Given the description of an element on the screen output the (x, y) to click on. 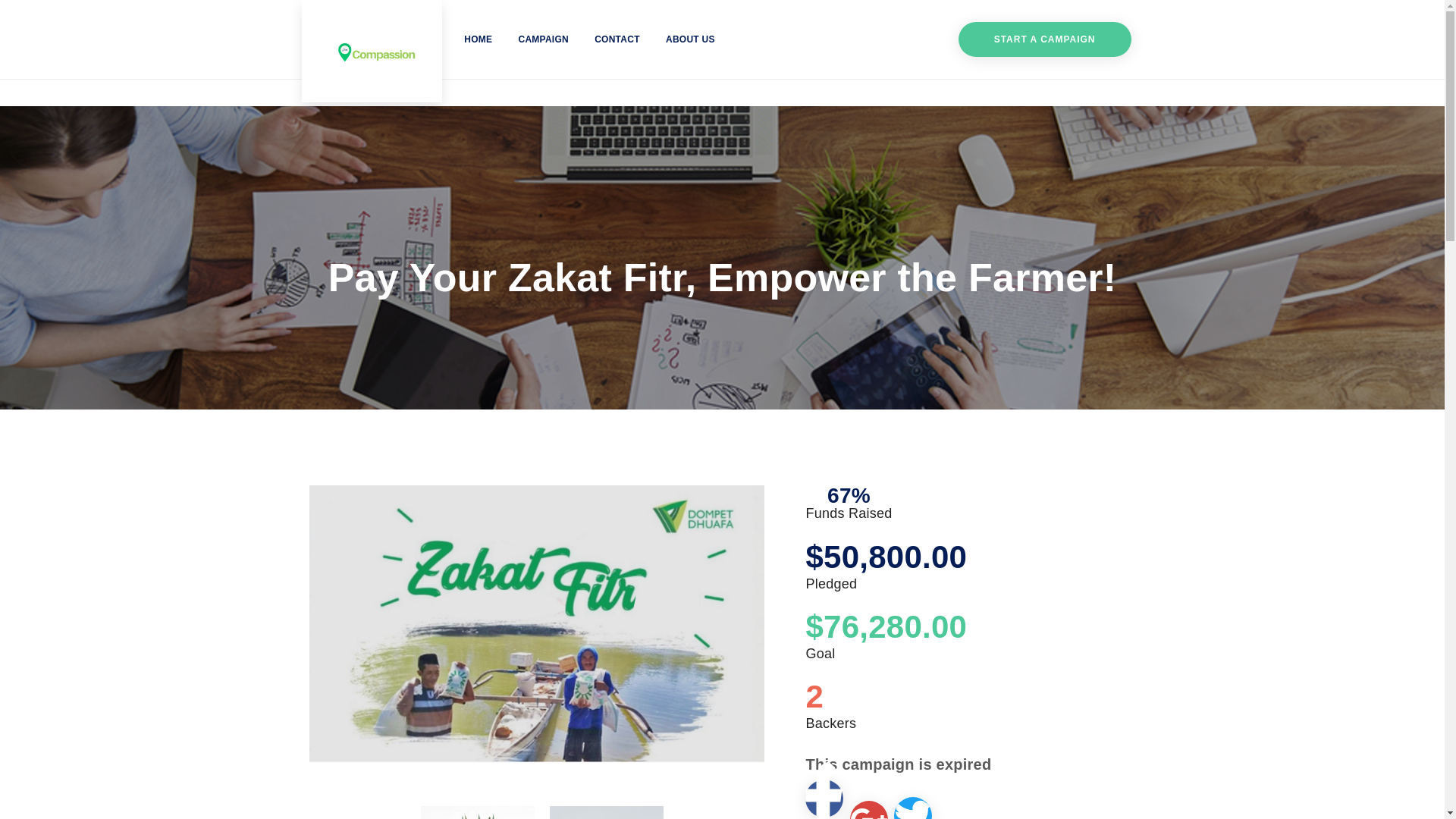
START A CAMPAIGN (1044, 39)
Login Now (722, 445)
